Given the description of an element on the screen output the (x, y) to click on. 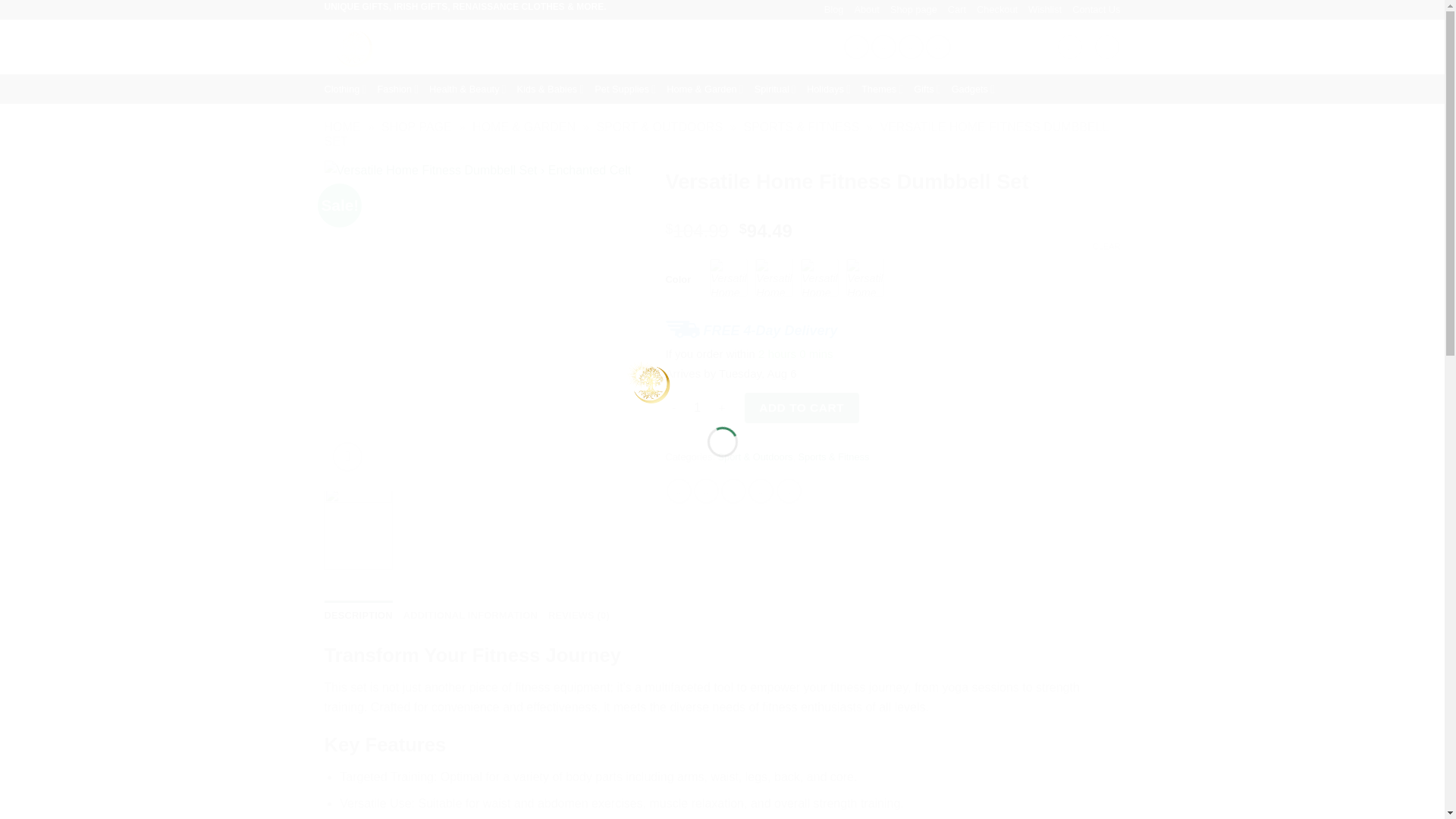
Follow on Instagram (883, 47)
Shop page (913, 9)
Follow on Pinterest (938, 47)
Blog (834, 9)
Contact Us (1095, 9)
Fashion (398, 89)
Clothing (345, 89)
Follow on TikTok (910, 47)
Cart (956, 9)
About (866, 9)
1 (697, 408)
Follow on Facebook (856, 47)
Checkout (996, 9)
Cart (1106, 46)
Home (342, 126)
